Given the description of an element on the screen output the (x, y) to click on. 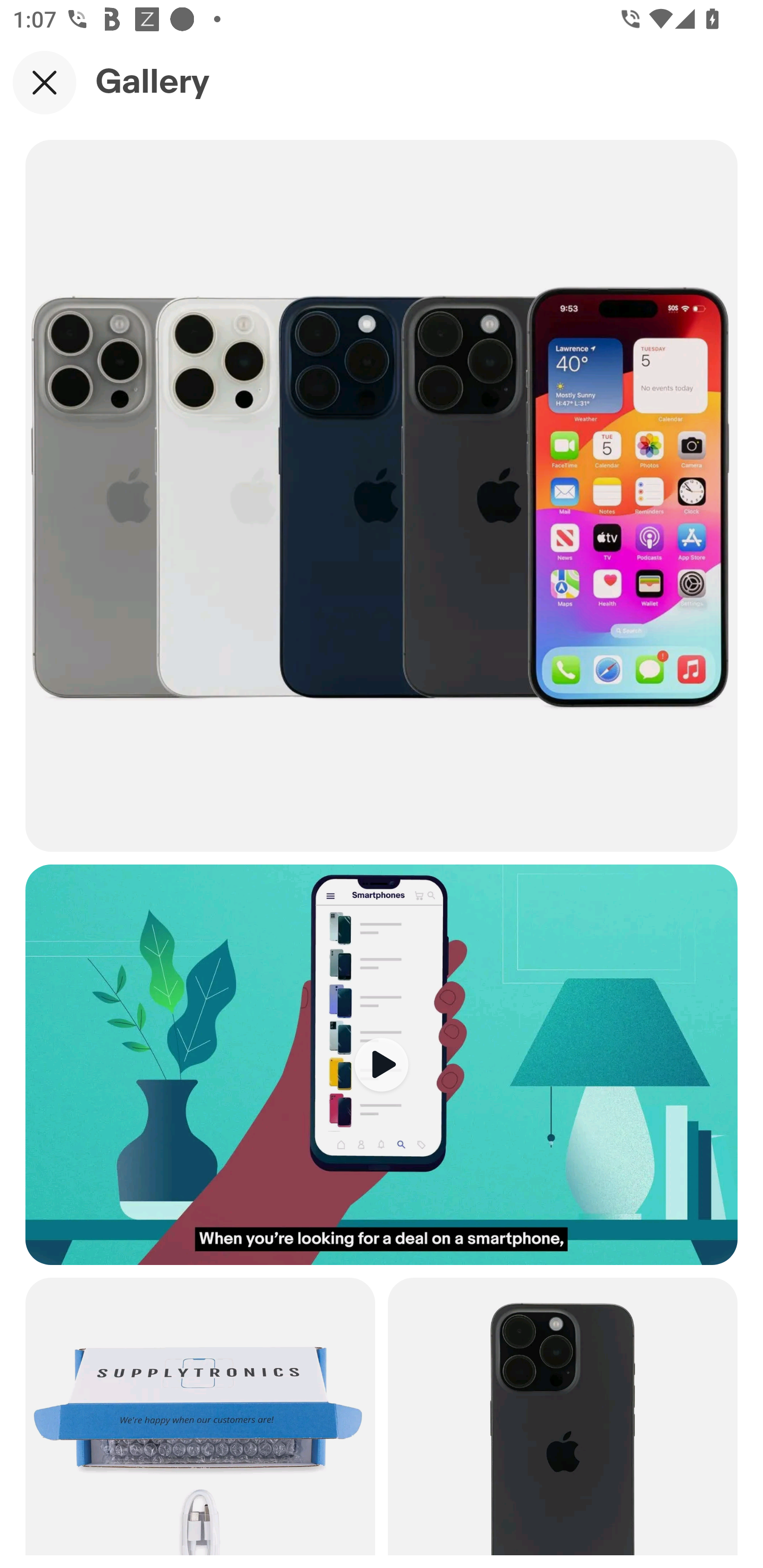
Close (44, 82)
Item image 1 of 7 (381, 495)
Item image 2 of 7, plays video (381, 1064)
Item image 3 of 7 (200, 1416)
Item image 4 of 7 (562, 1416)
